Given the description of an element on the screen output the (x, y) to click on. 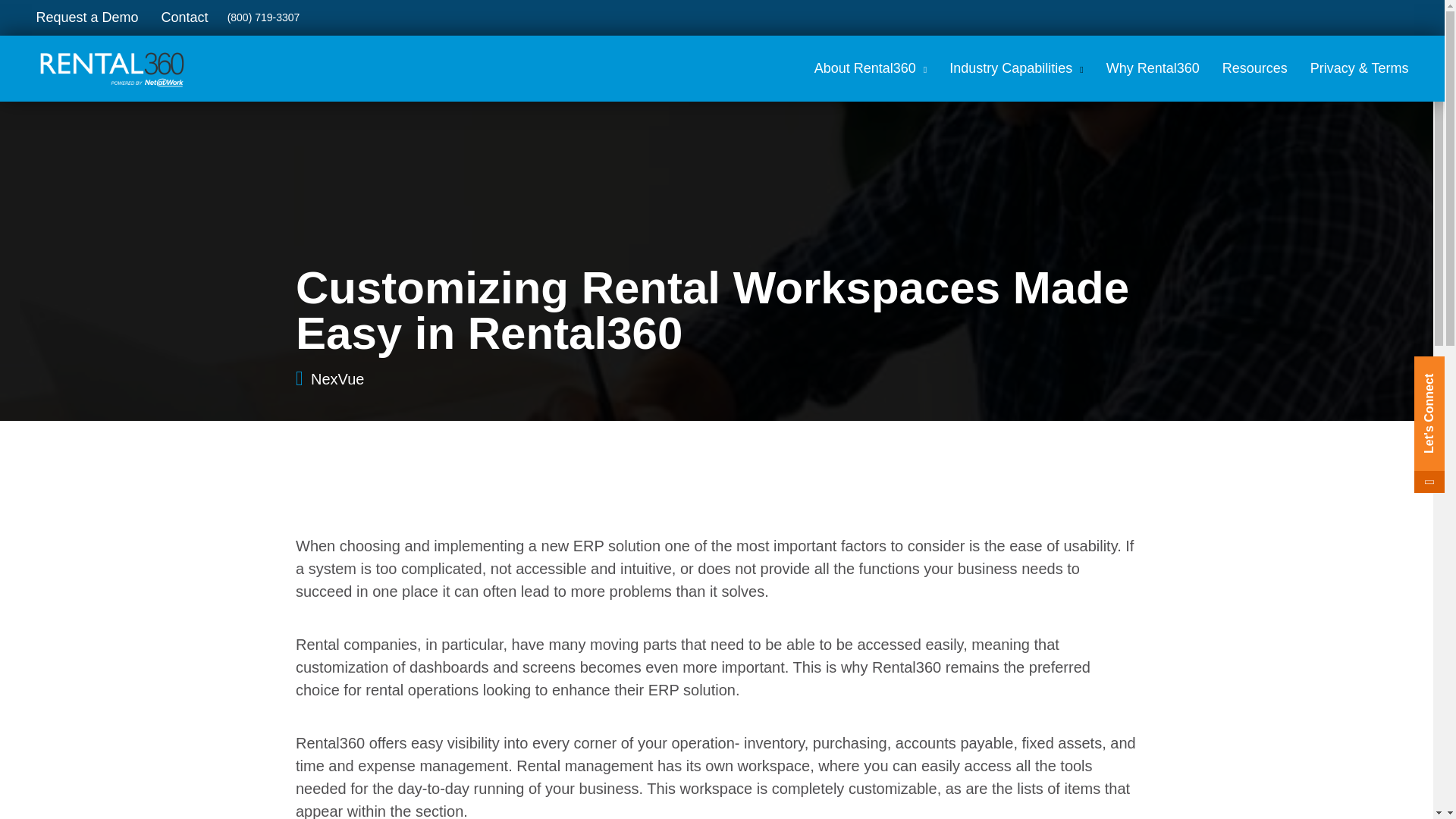
Request a Demo (86, 17)
Why Rental360 (1152, 68)
Contact (184, 17)
Resources (1254, 68)
Industry Capabilities (1015, 68)
About Rental360 (871, 68)
